Given the description of an element on the screen output the (x, y) to click on. 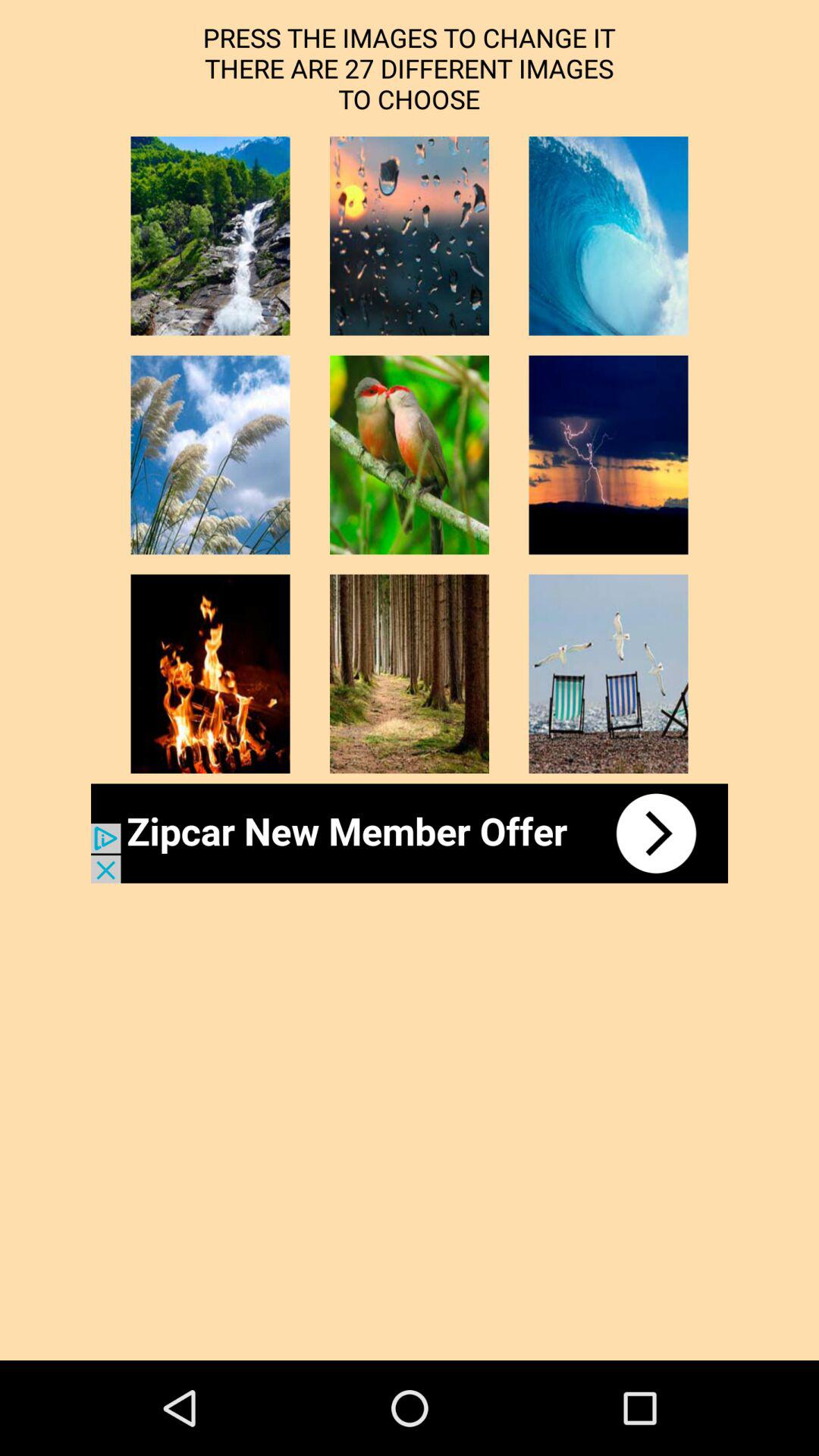
select image (210, 454)
